Given the description of an element on the screen output the (x, y) to click on. 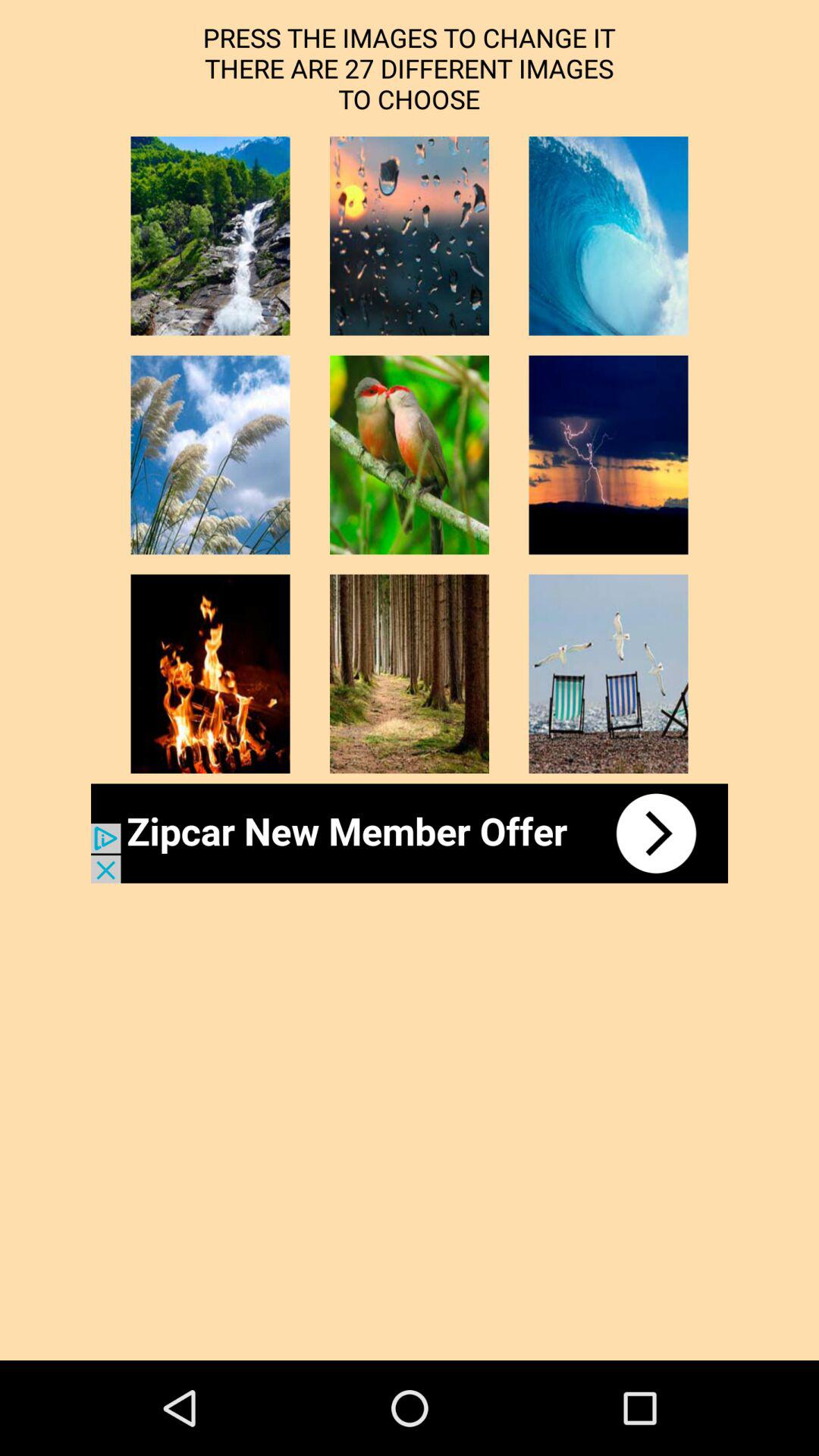
select image (210, 454)
